Given the description of an element on the screen output the (x, y) to click on. 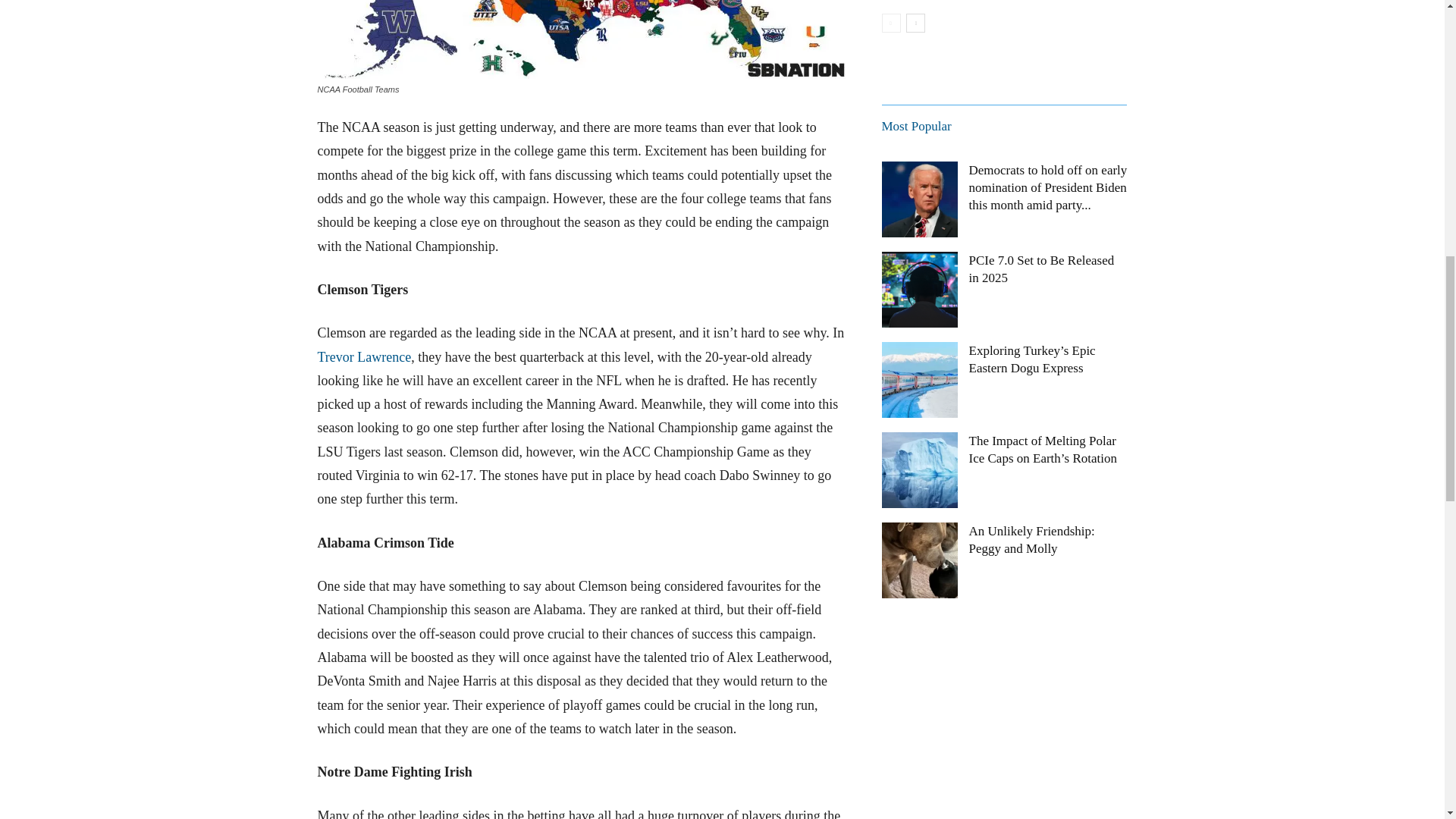
Trevor Lawrence (363, 355)
NCAA Football Teams (580, 39)
